Given the description of an element on the screen output the (x, y) to click on. 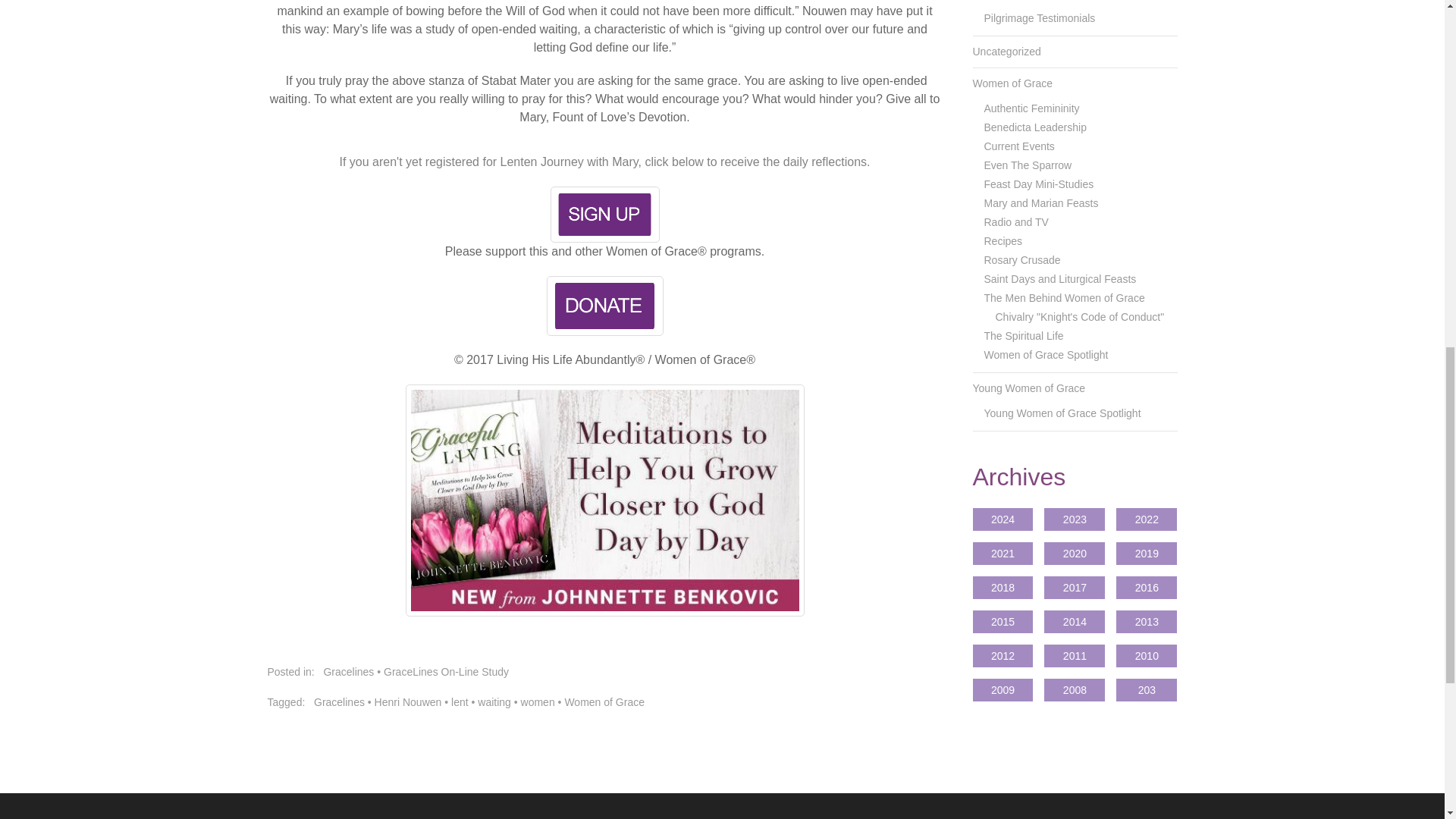
waiting (494, 702)
Gracelines (348, 671)
Women of Grace (604, 702)
GraceLines On-Line Study (446, 671)
Henri Nouwen (408, 702)
Gracelines (339, 702)
lent (459, 702)
women (537, 702)
